Given the description of an element on the screen output the (x, y) to click on. 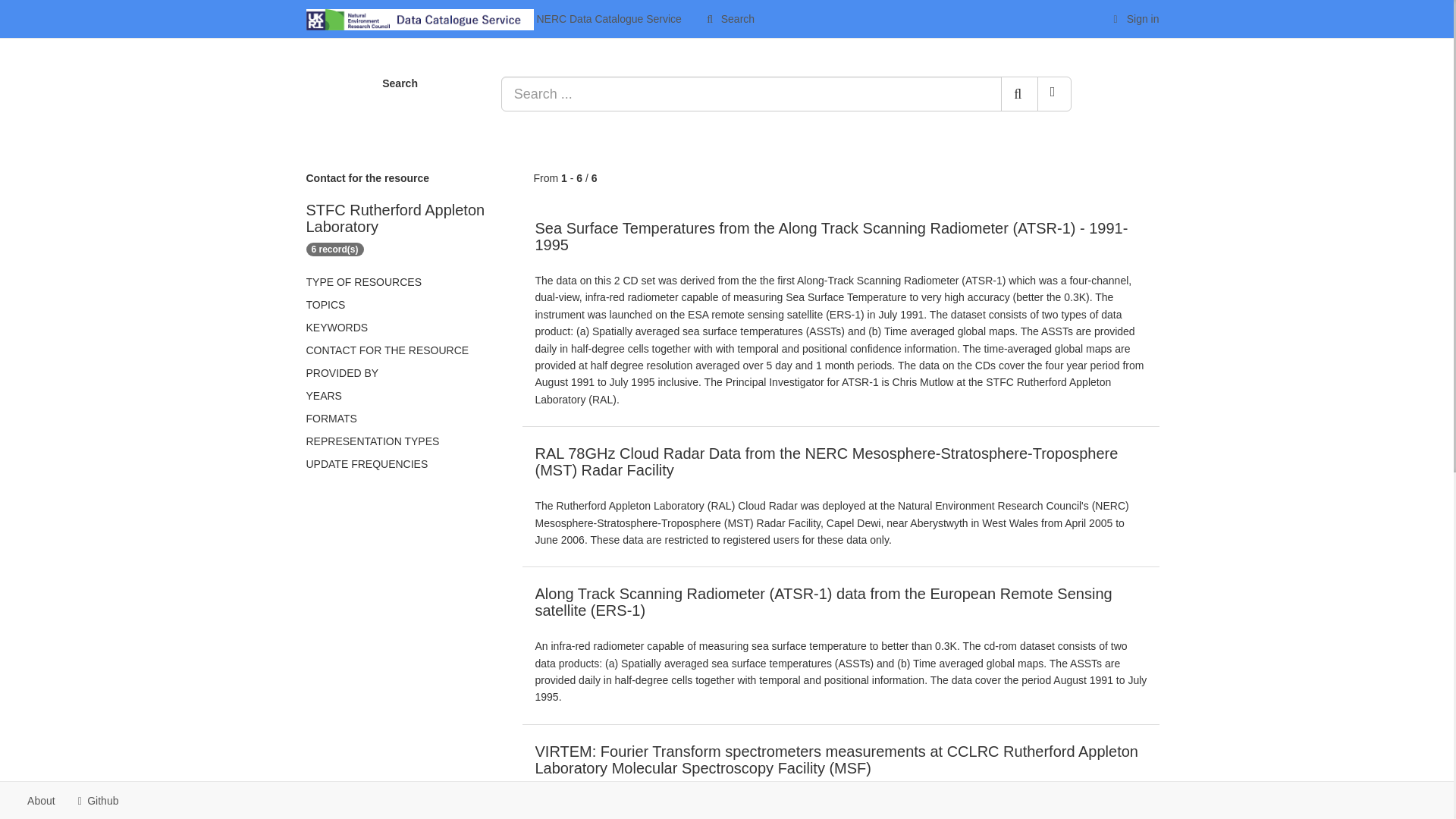
NERC Data Catalogue Service (493, 18)
  Sign in (1134, 18)
Reset (1053, 93)
Search (1019, 93)
Search (729, 18)
Sign in (1134, 18)
  Search (729, 18)
